Given the description of an element on the screen output the (x, y) to click on. 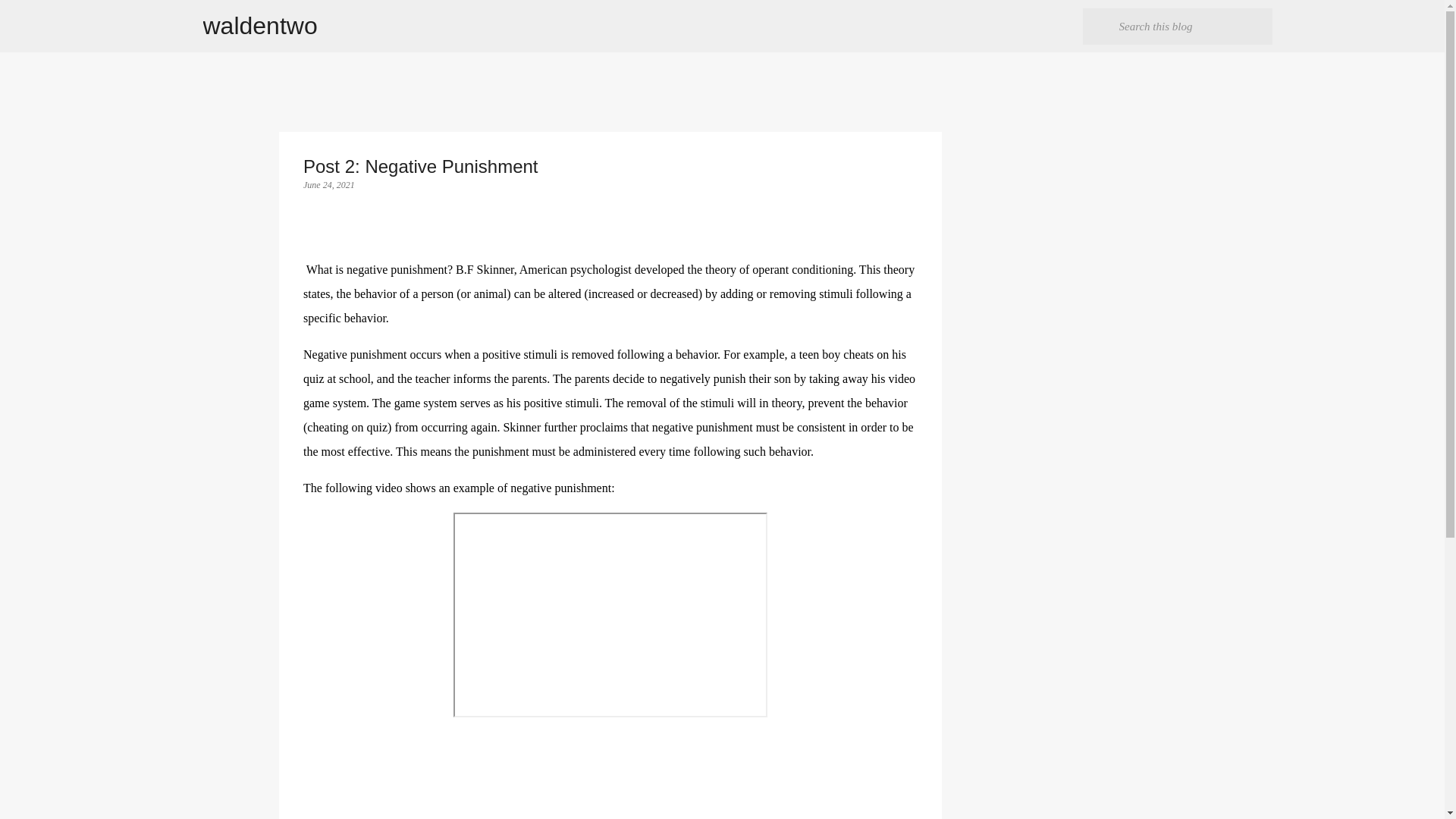
permanent link (328, 184)
June 24, 2021 (328, 184)
waldentwo (260, 25)
